Given the description of an element on the screen output the (x, y) to click on. 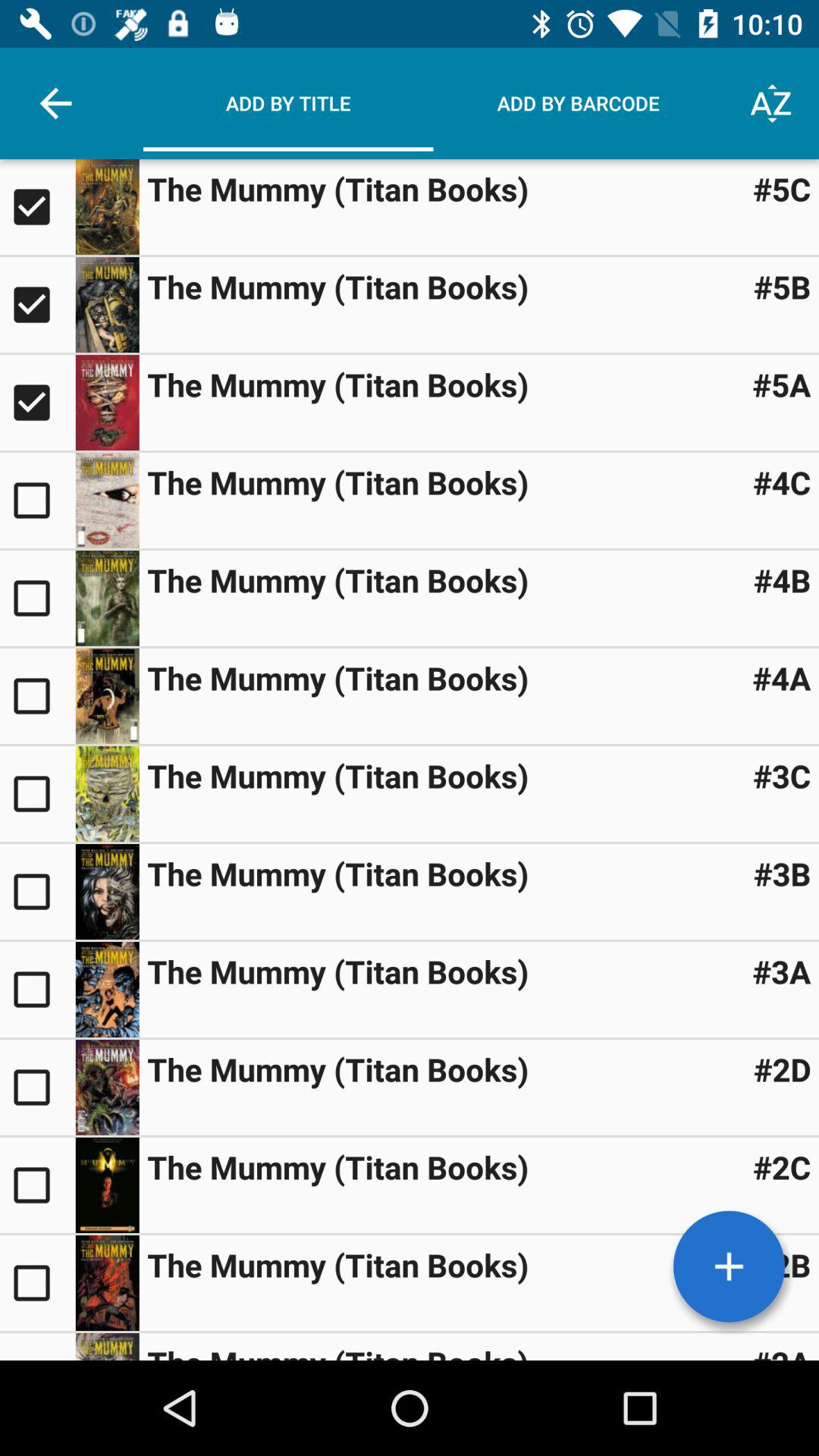
select ths item (37, 695)
